Given the description of an element on the screen output the (x, y) to click on. 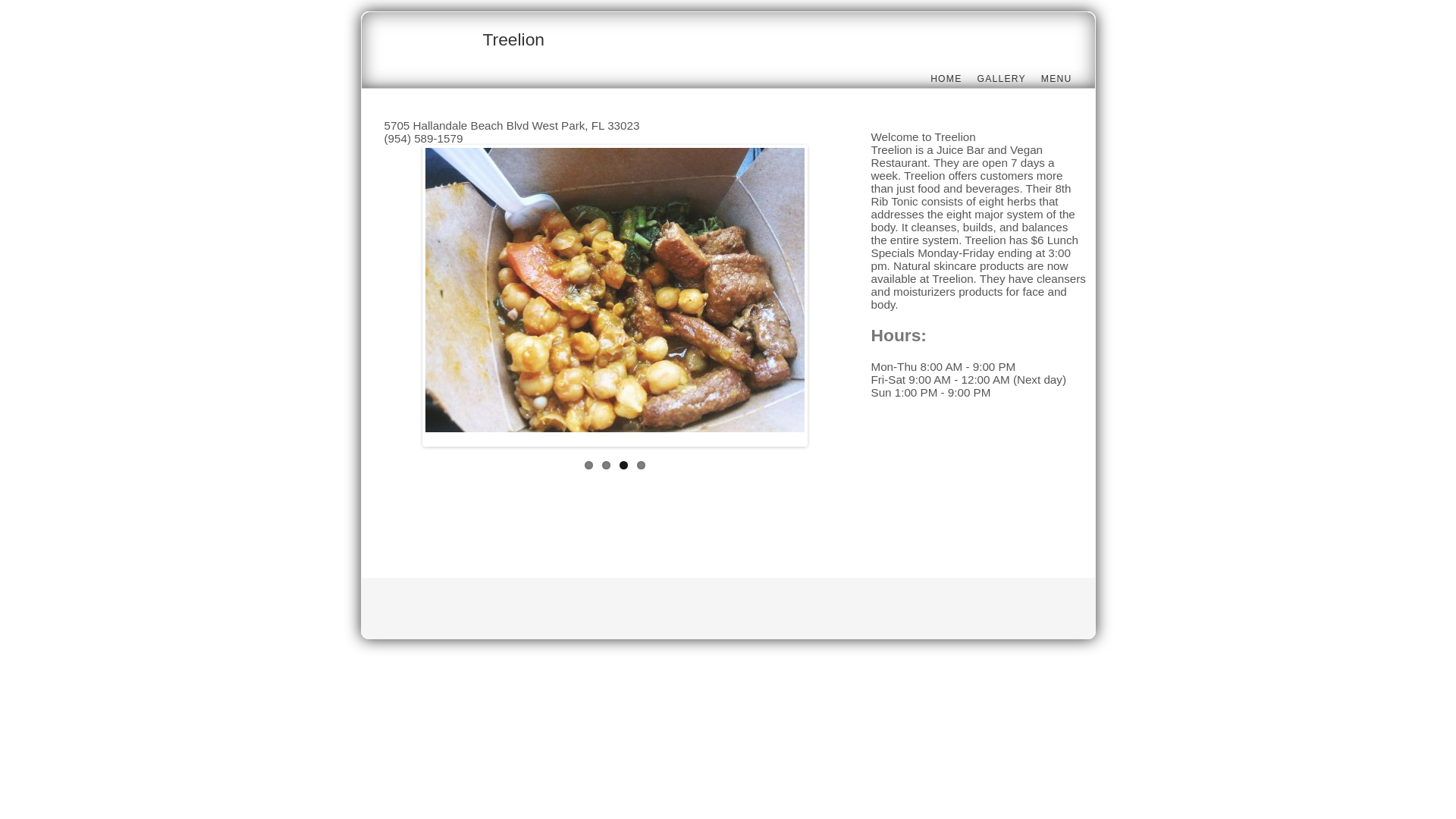
GALLERY Element type: text (1000, 78)
2 Element type: text (606, 465)
Treelion Element type: text (513, 39)
Advertisement Element type: hover (659, 526)
HOME Element type: text (945, 78)
1 Element type: text (587, 465)
4 Element type: text (641, 465)
MENU Element type: text (1056, 78)
3 Element type: text (622, 465)
